Given the description of an element on the screen output the (x, y) to click on. 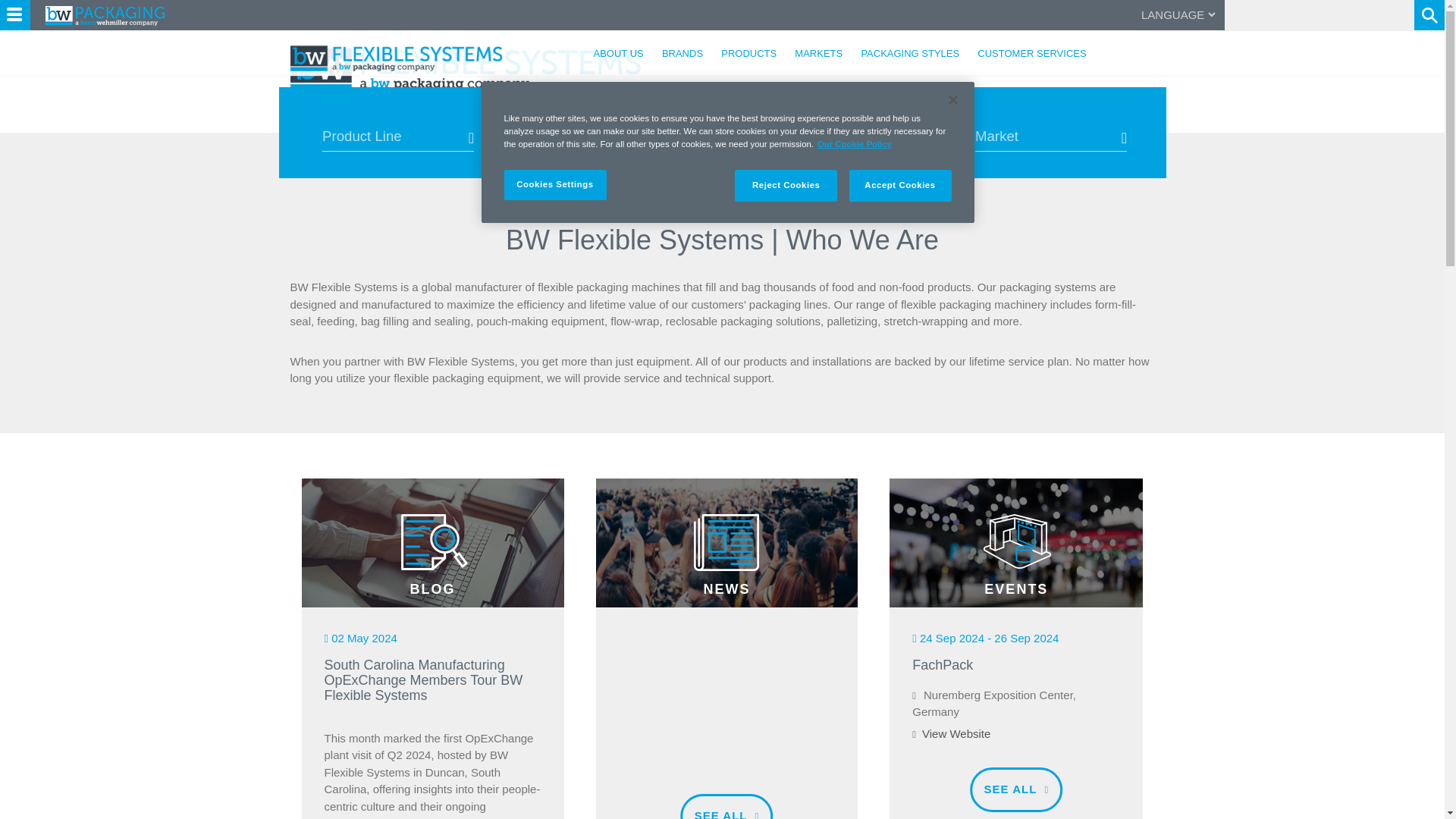
BRANDS (473, 132)
PRODUCTS (402, 132)
fw-iframe (726, 686)
Home-Blog (432, 542)
Home-Events (1015, 542)
Home-News (727, 542)
ABOUT US (326, 132)
